Given the description of an element on the screen output the (x, y) to click on. 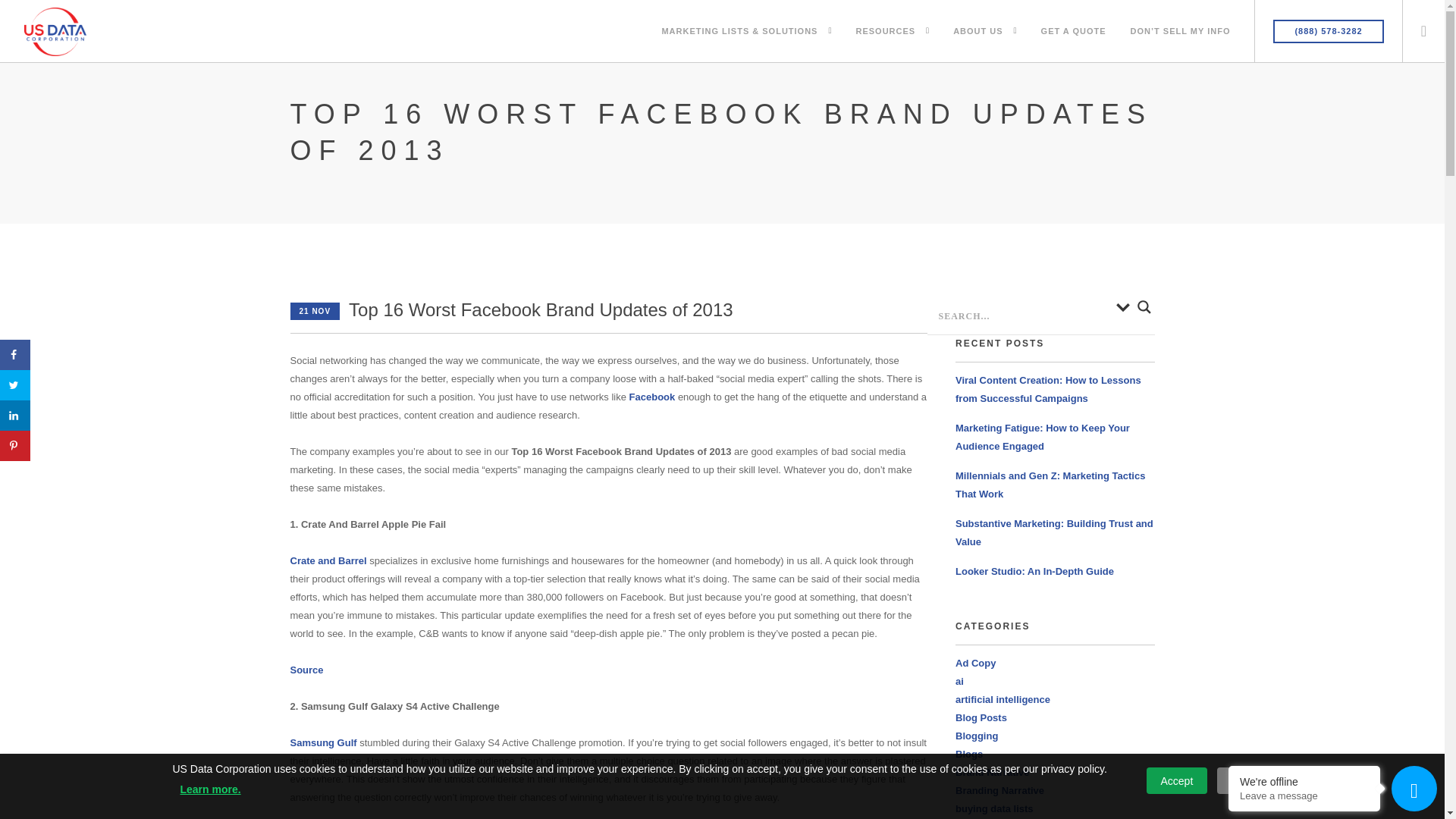
Learn more. (210, 789)
RESOURCES (885, 21)
Deny (1243, 780)
Learn more. (210, 789)
Share on Facebook (15, 354)
Accept (1177, 780)
